Given the description of an element on the screen output the (x, y) to click on. 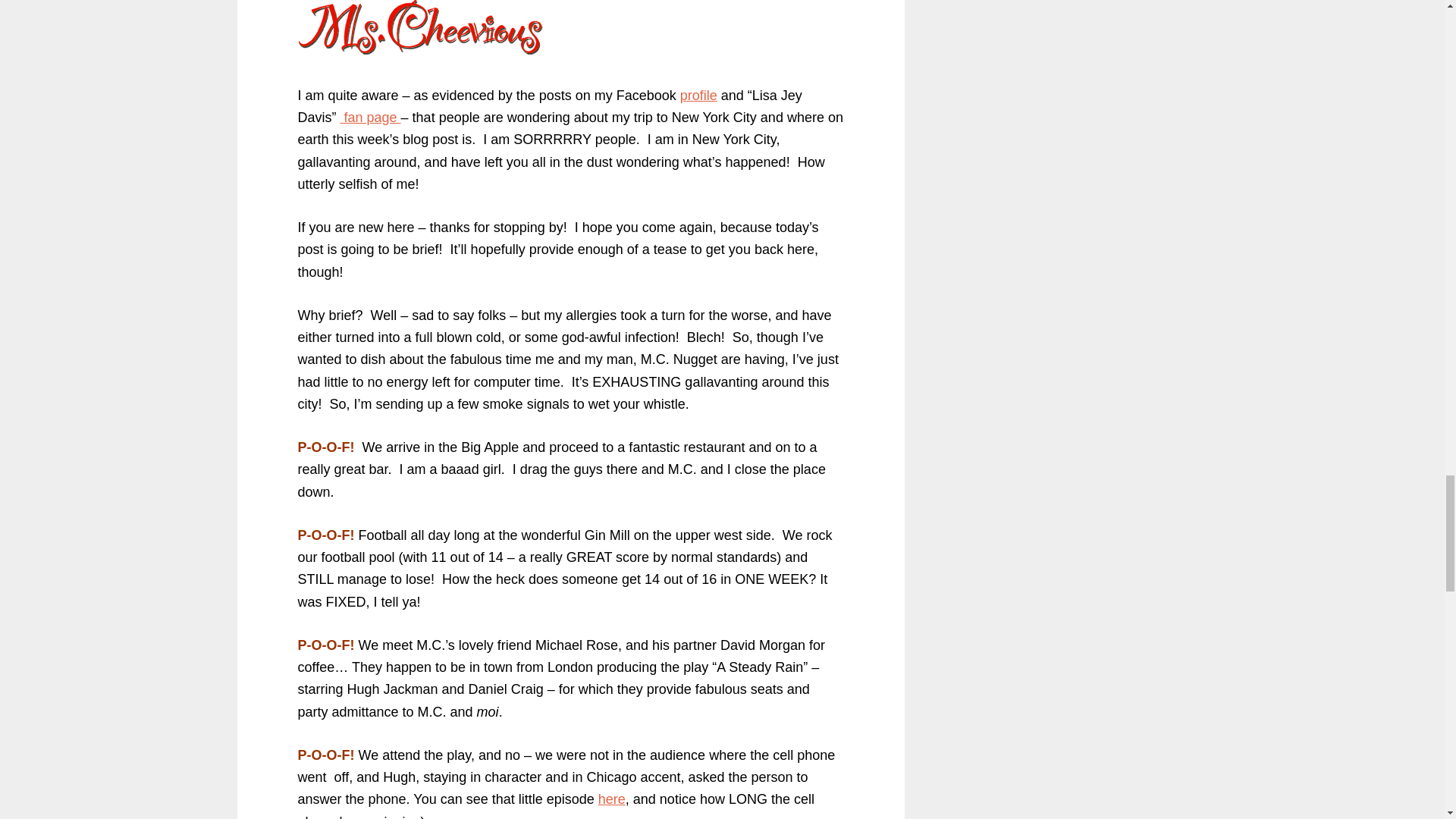
Hugh Jackman Cell Phone Incident (612, 798)
